Given the description of an element on the screen output the (x, y) to click on. 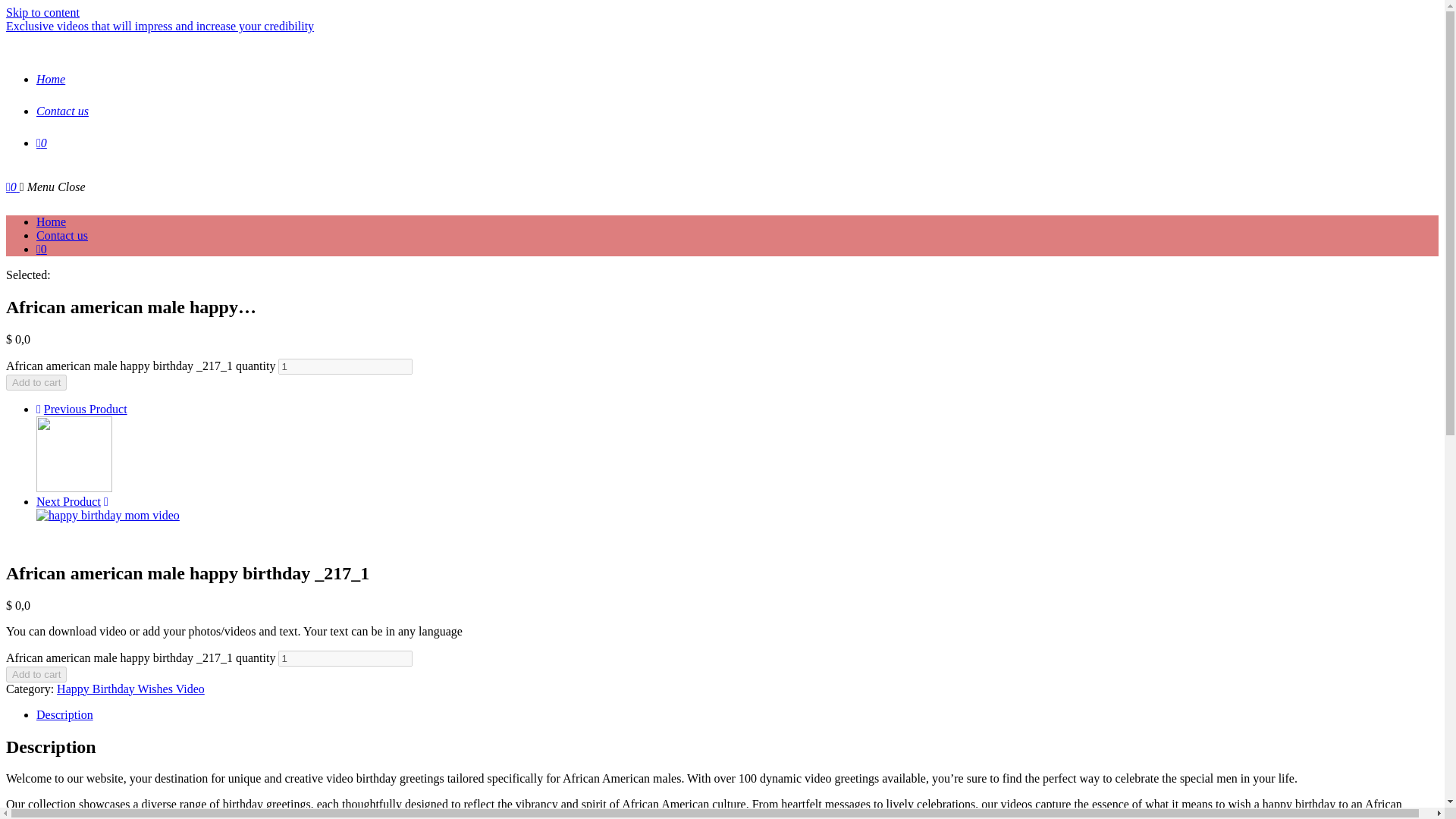
1 (345, 658)
Previous Product (85, 408)
Home (50, 78)
0 (12, 186)
1 (345, 366)
Add to cart (35, 382)
Description (64, 714)
Menu Close (52, 186)
Next Product (68, 501)
